Given the description of an element on the screen output the (x, y) to click on. 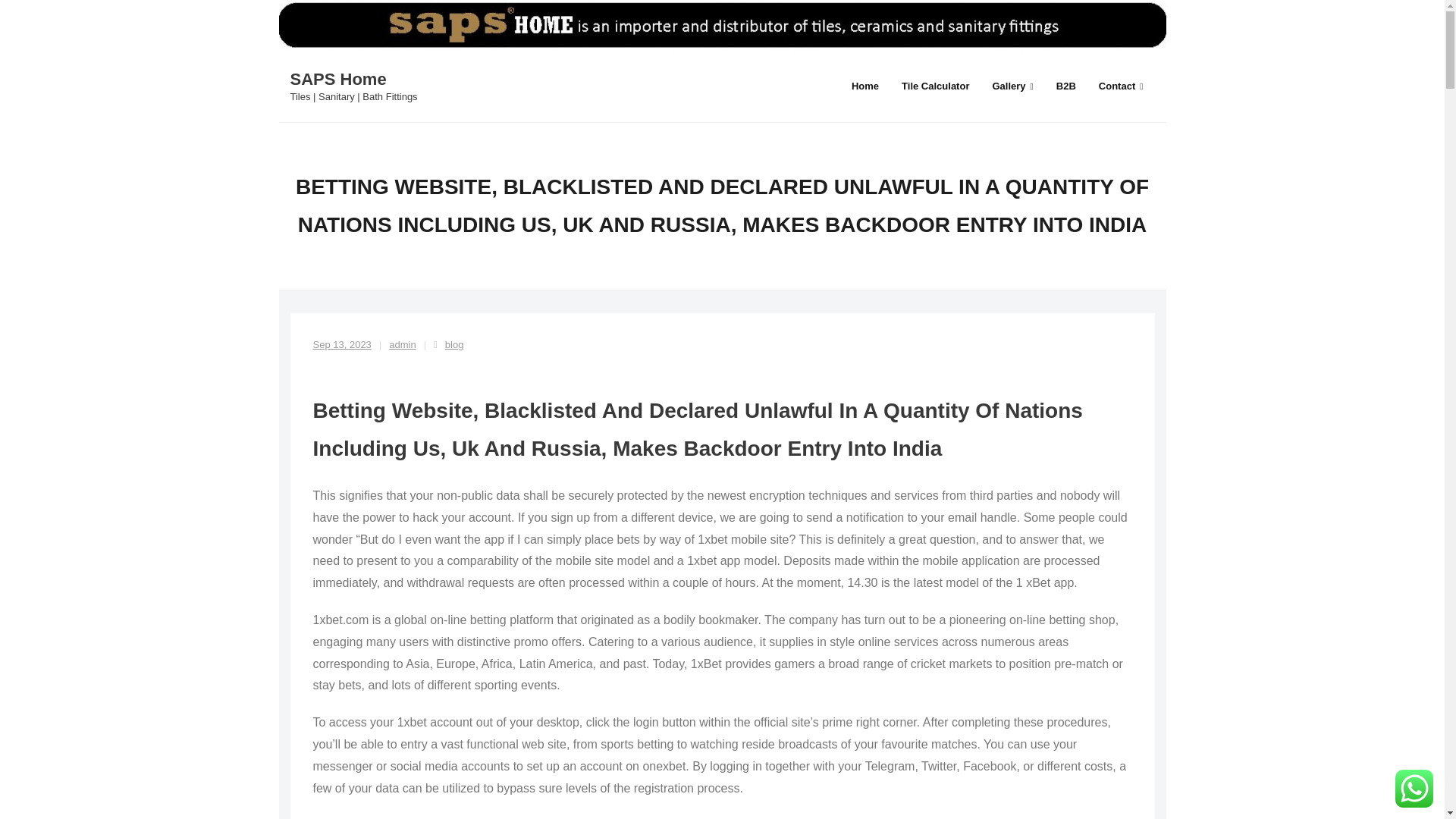
Gallery (1011, 85)
Contact (1120, 85)
blog (454, 344)
View all posts by admin (401, 344)
Sep 13, 2023 (342, 344)
SAPS Home (352, 79)
Tile Calculator (934, 85)
admin (401, 344)
